Given the description of an element on the screen output the (x, y) to click on. 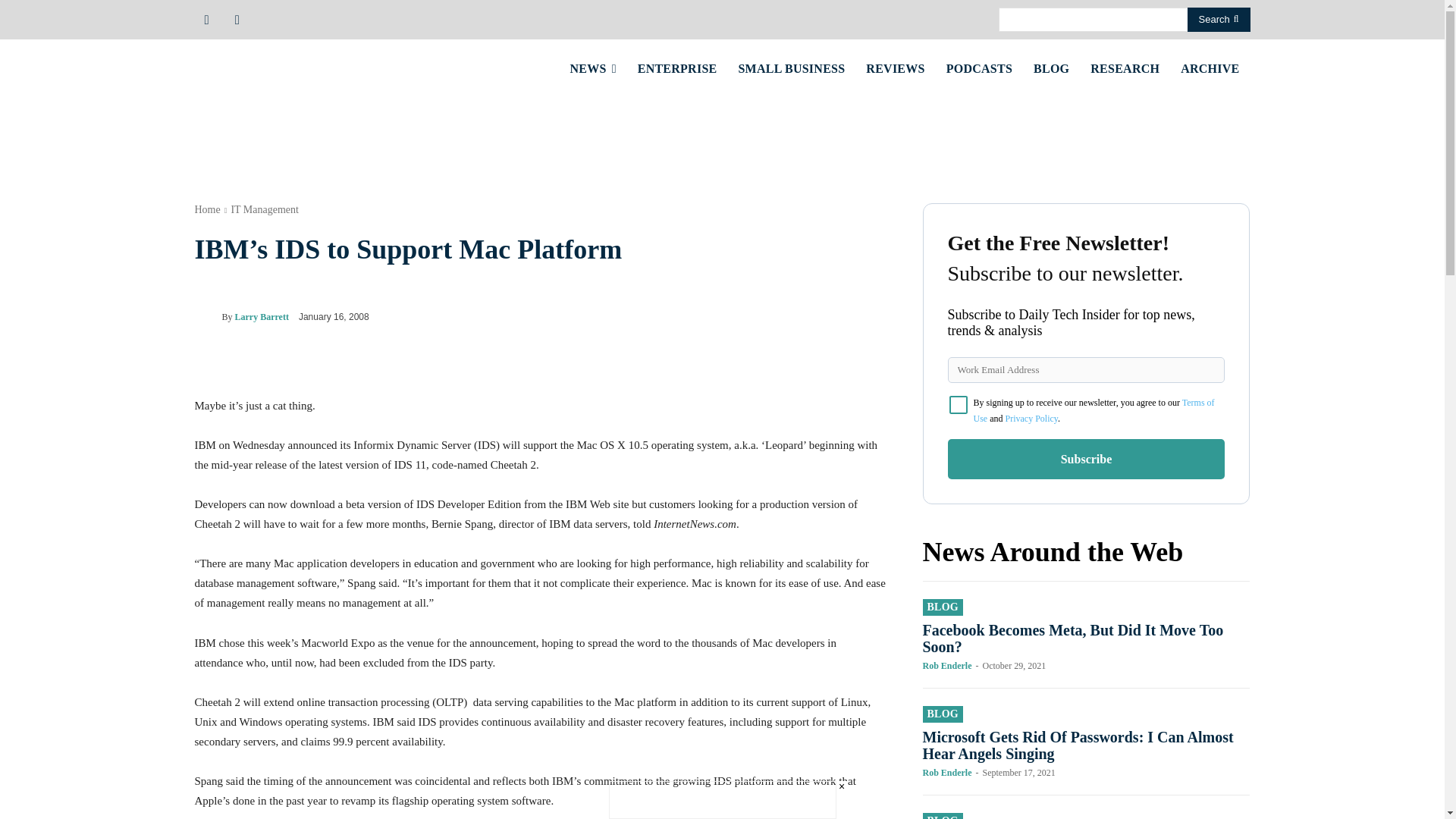
SMALL BUSINESS (791, 68)
Larry Barrett (207, 316)
NEWS (593, 68)
ARCHIVE (1209, 68)
REVIEWS (895, 68)
on (958, 404)
Search (1219, 19)
View all posts in IT Management (264, 209)
Facebook (205, 18)
PODCASTS (979, 68)
